Given the description of an element on the screen output the (x, y) to click on. 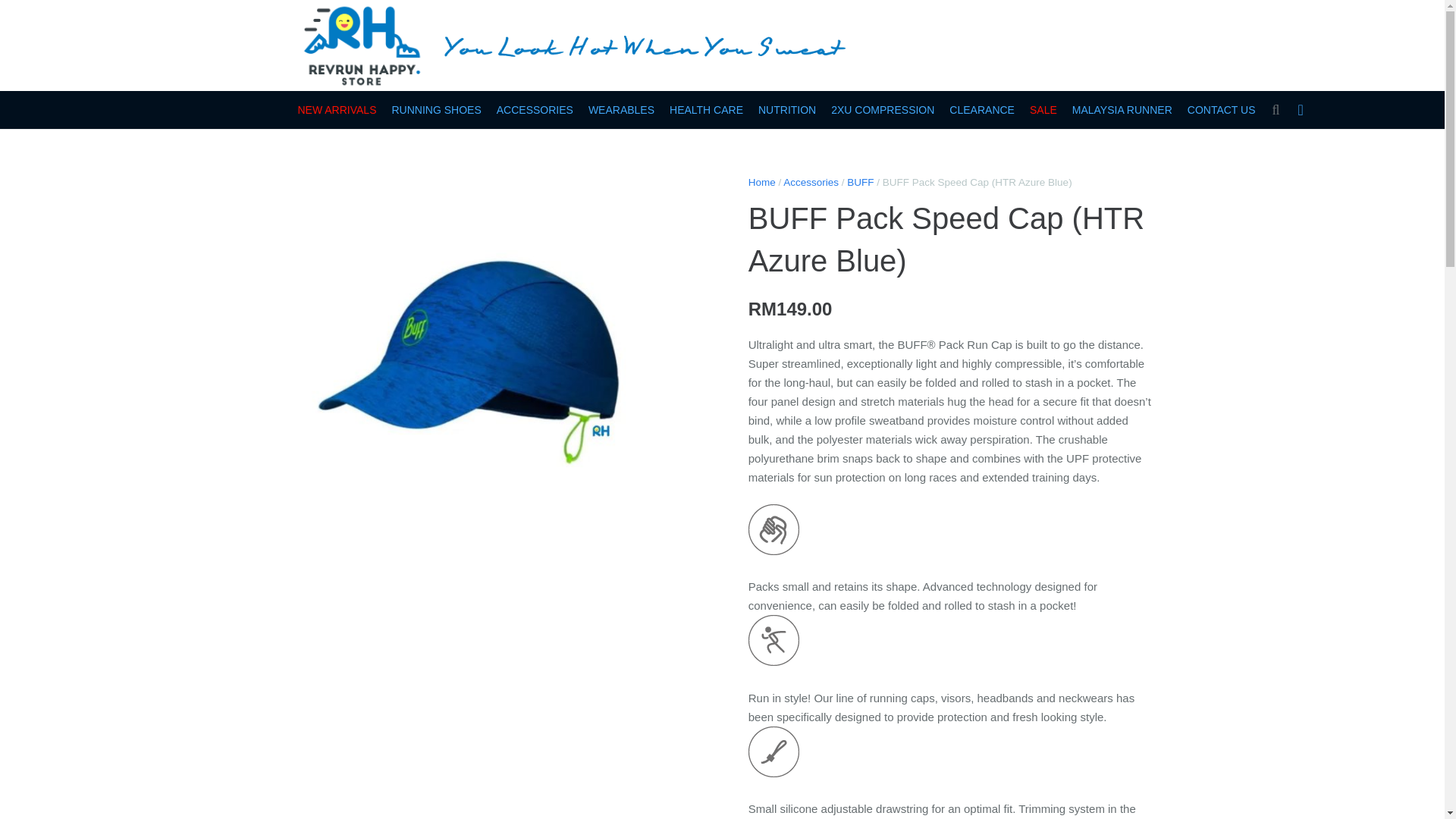
2XU COMPRESSION (883, 110)
CLEARANCE (982, 110)
Accessories (810, 182)
SALE (1043, 110)
BUFF (860, 182)
WEARABLES (621, 110)
NEW ARRIVALS (336, 110)
CONTACT US (1221, 110)
HEALTH CARE (706, 110)
NUTRITION (787, 110)
